Given the description of an element on the screen output the (x, y) to click on. 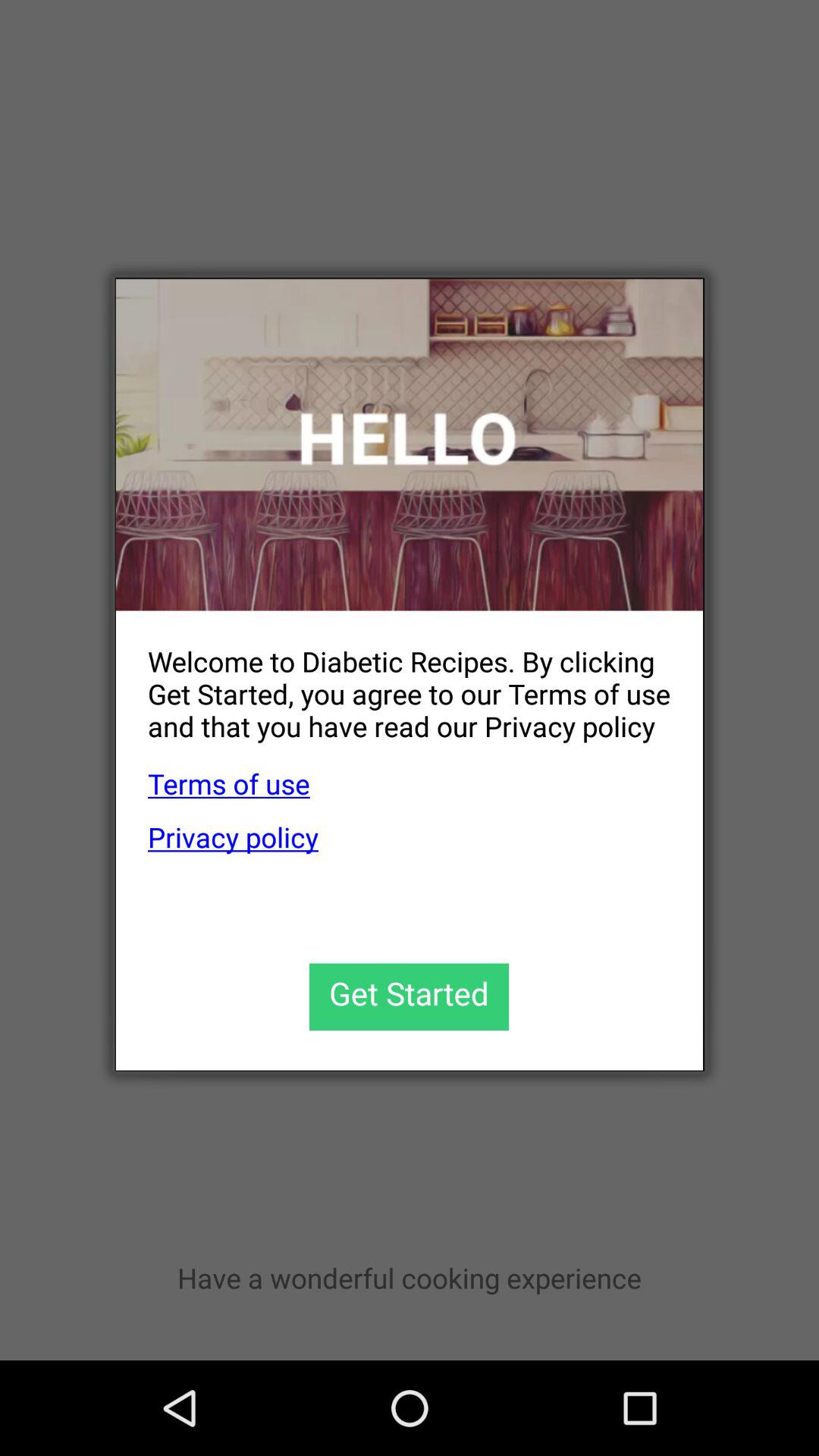
get started (409, 996)
